Given the description of an element on the screen output the (x, y) to click on. 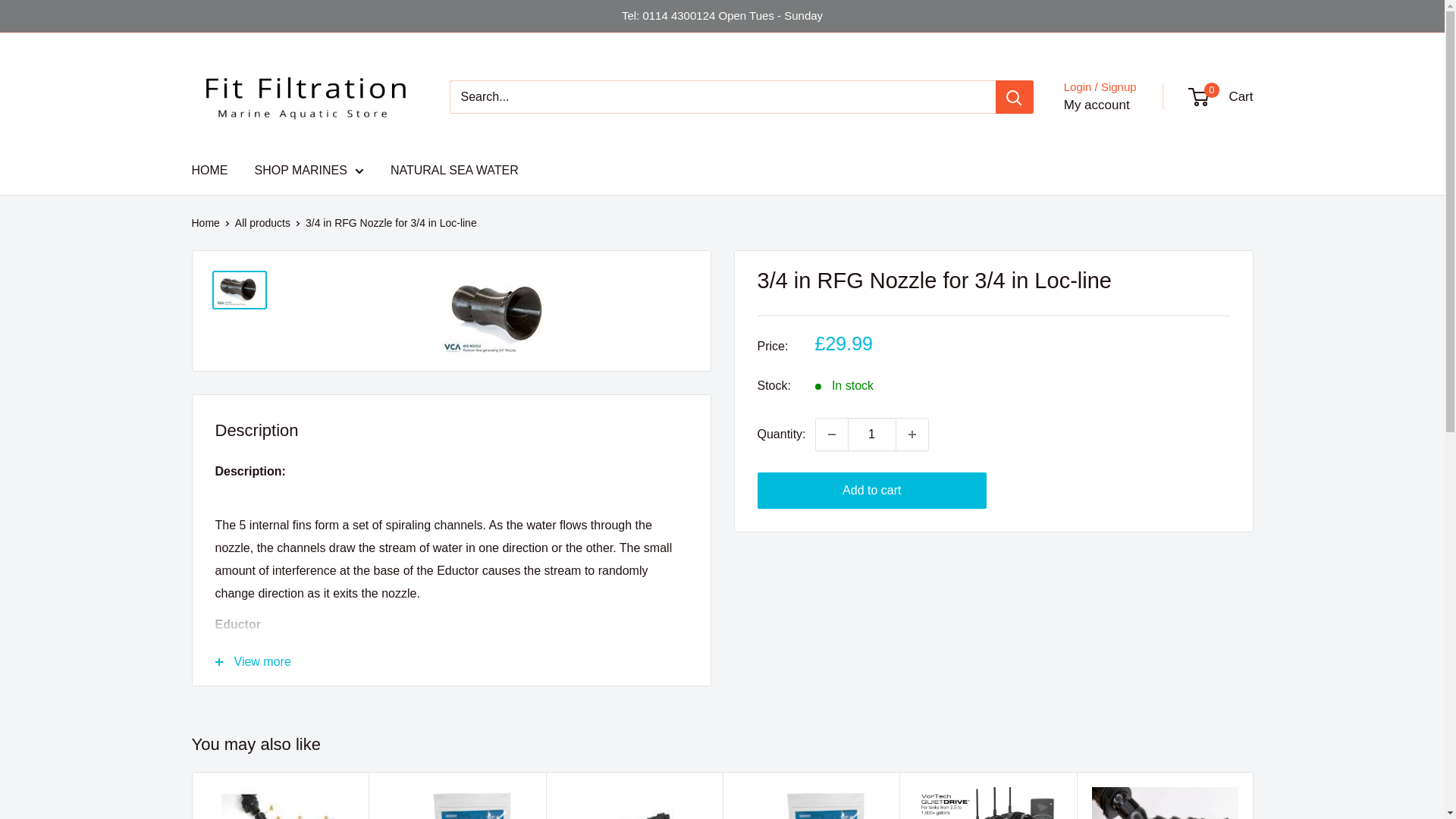
Decrease quantity by 1 (831, 434)
Increase quantity by 1 (912, 434)
1 (871, 434)
